Given the description of an element on the screen output the (x, y) to click on. 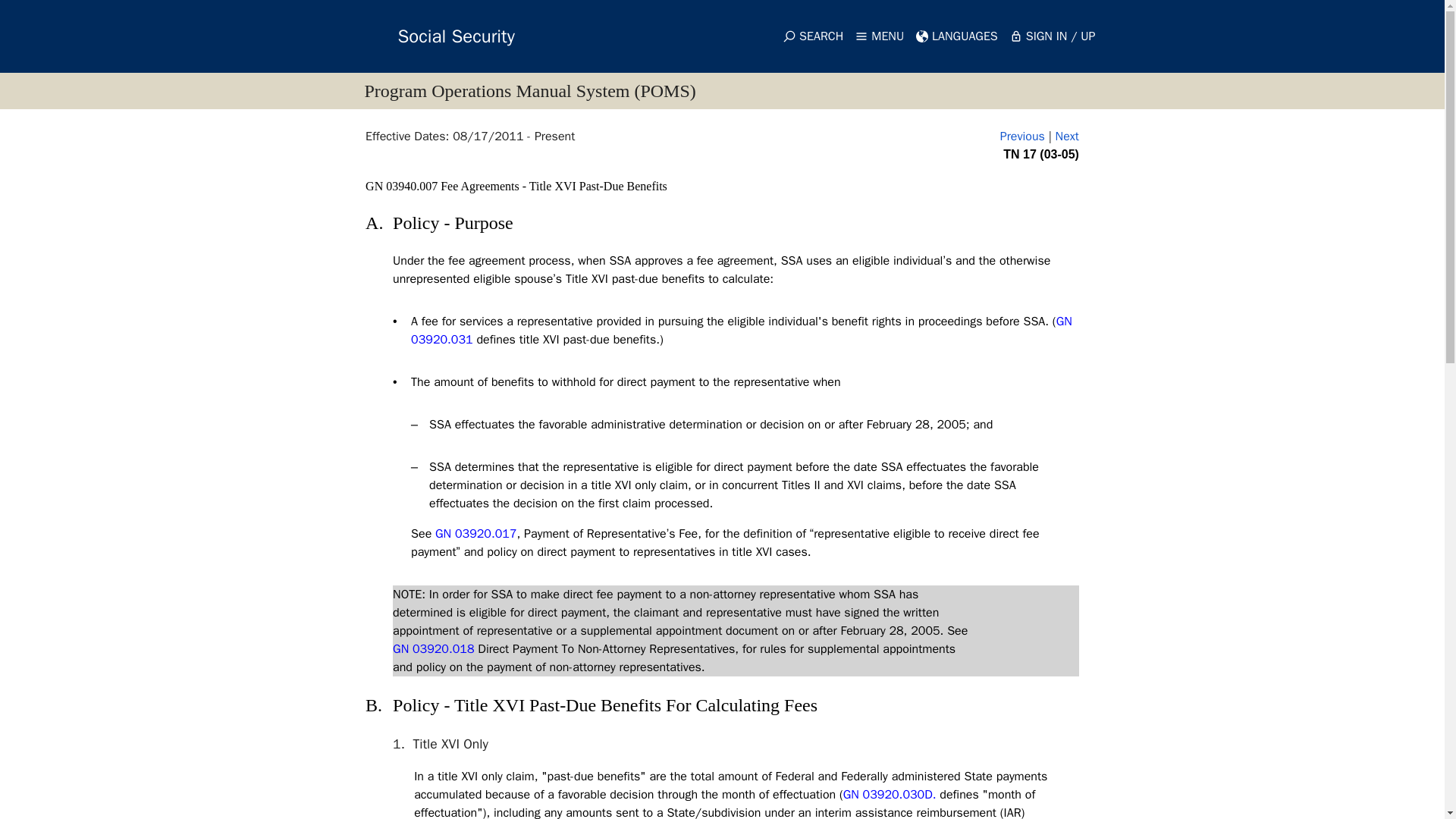
Previous (1022, 136)
GN 03920.030D. (889, 794)
Languages (957, 36)
GN 03920.031 (740, 330)
Next (1066, 136)
Social Security (427, 36)
SEARCH (812, 36)
Previous Document (1022, 136)
GN 03920.018 (433, 648)
GN 03920.017 (475, 533)
LANGUAGES (957, 36)
GN 03940.007 (403, 185)
Next Document (1066, 136)
MENU (879, 36)
